Given the description of an element on the screen output the (x, y) to click on. 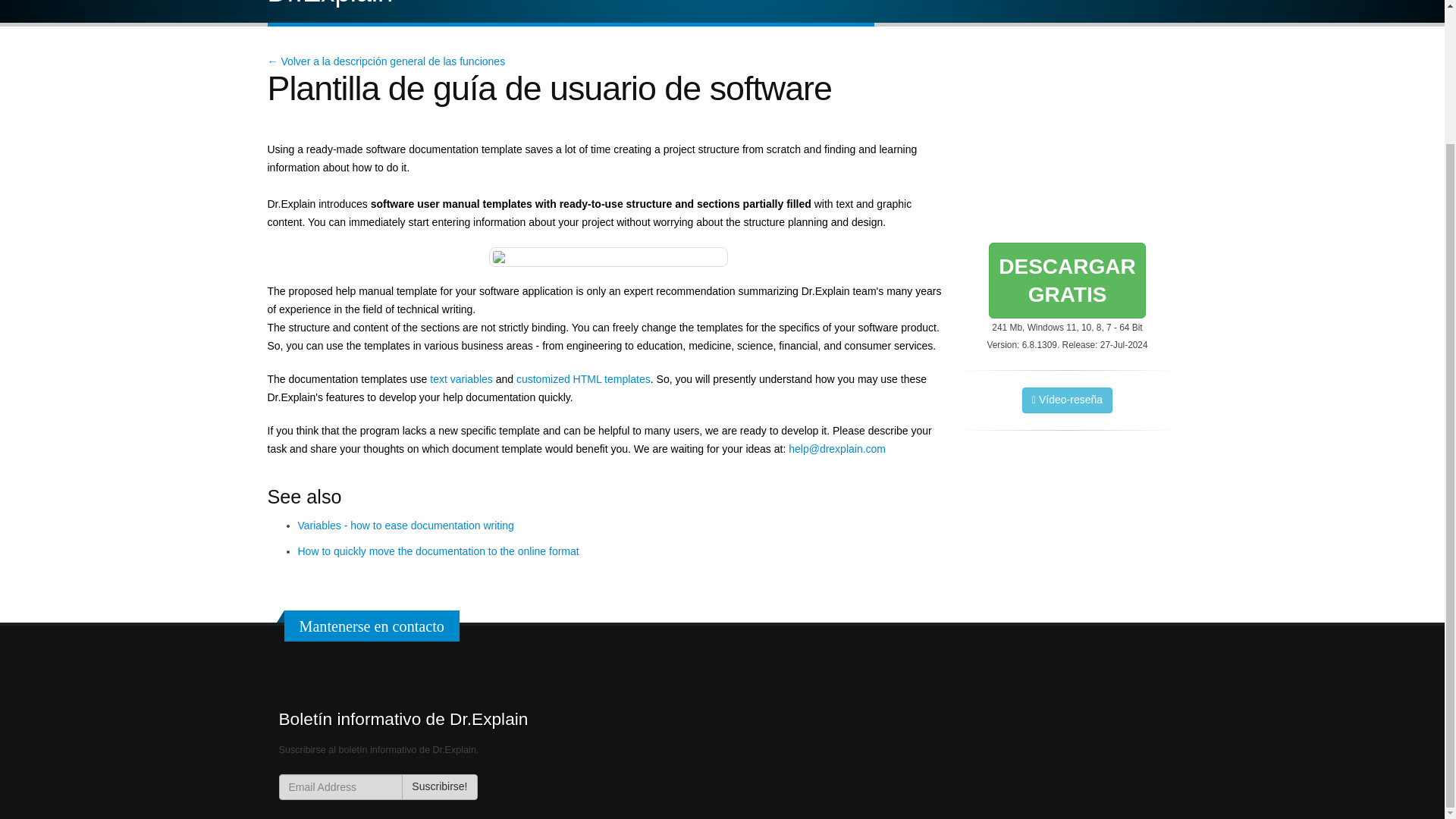
How to quickly move the documentation to the online format (437, 551)
Download Dr.Explain (1066, 280)
Suscribirse! (1066, 280)
Variables - how to ease documentation writing (439, 786)
customized HTML templates (405, 525)
text variables (583, 378)
